Given the description of an element on the screen output the (x, y) to click on. 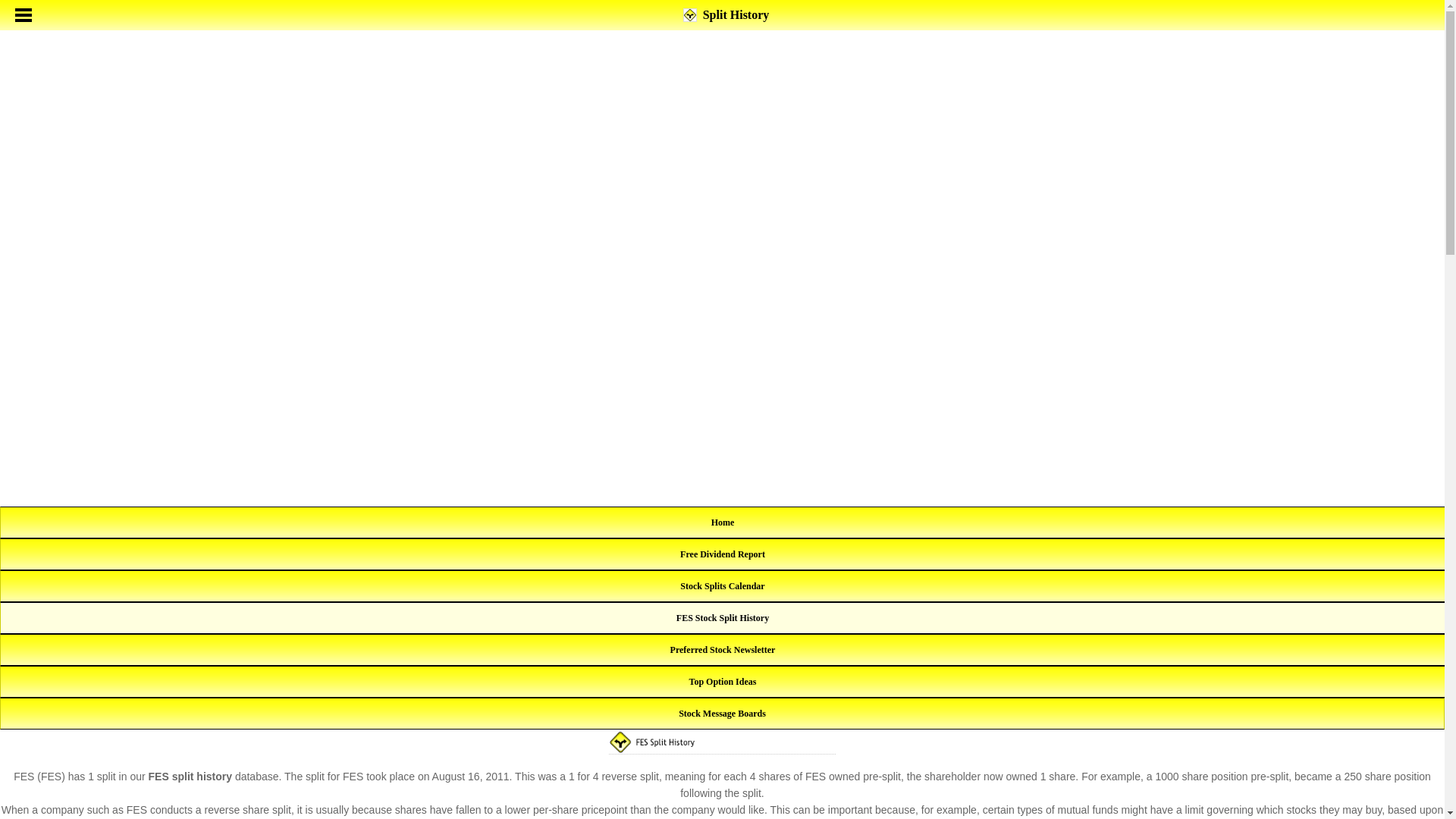
Stock Splits Calendar (721, 585)
Stock Split History (723, 521)
Preferred Stock Newsletter (722, 649)
Free Dividend Report (722, 553)
Top Option Ideas (722, 681)
FES Stock Split History (722, 617)
Stock Message Boards (721, 713)
Home (723, 521)
